Given the description of an element on the screen output the (x, y) to click on. 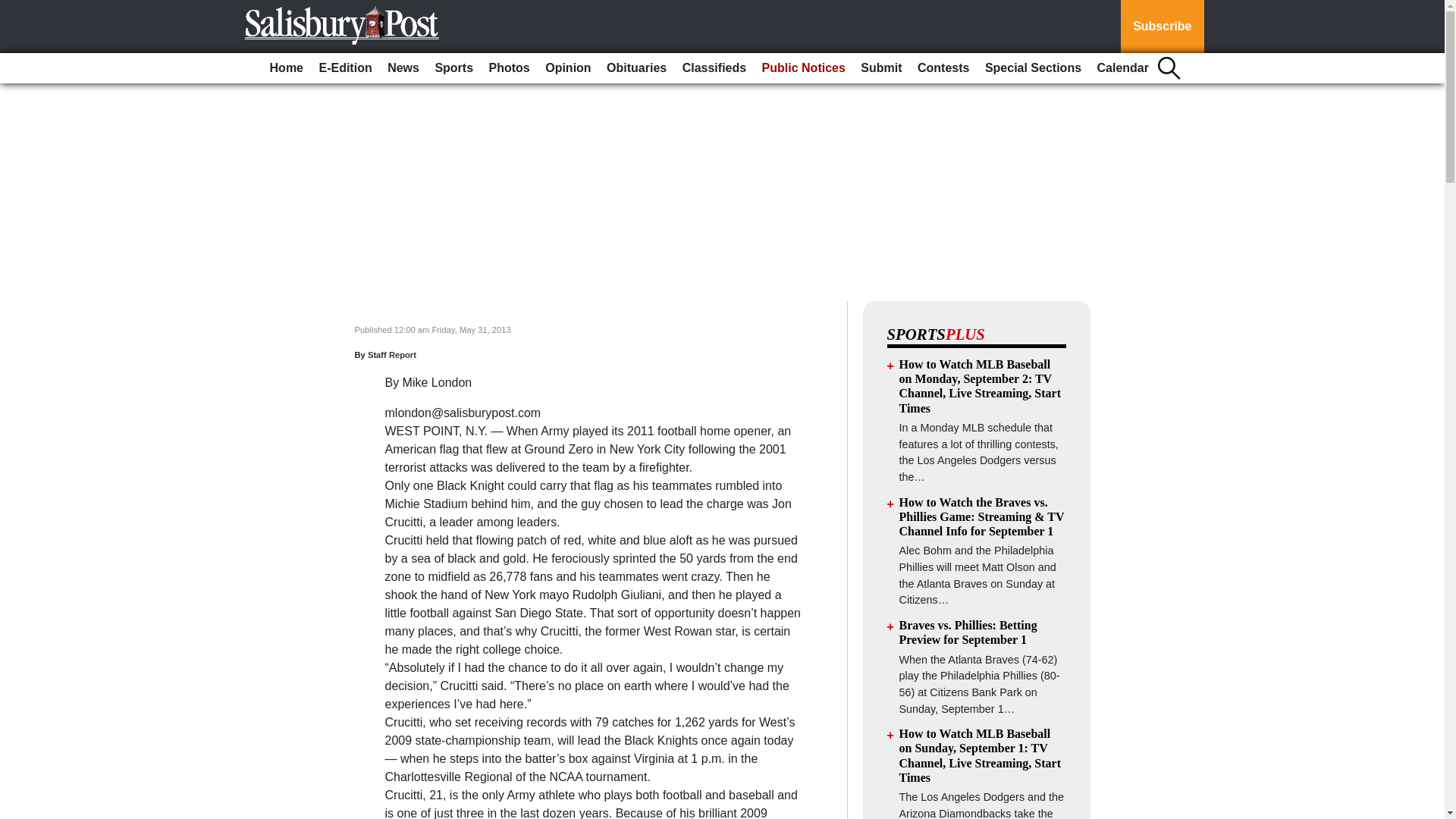
News (403, 68)
Obituaries (635, 68)
Opinion (567, 68)
Sports (453, 68)
Classifieds (714, 68)
Submit (880, 68)
Public Notices (803, 68)
Subscribe (1162, 26)
Photos (509, 68)
E-Edition (345, 68)
